Given the description of an element on the screen output the (x, y) to click on. 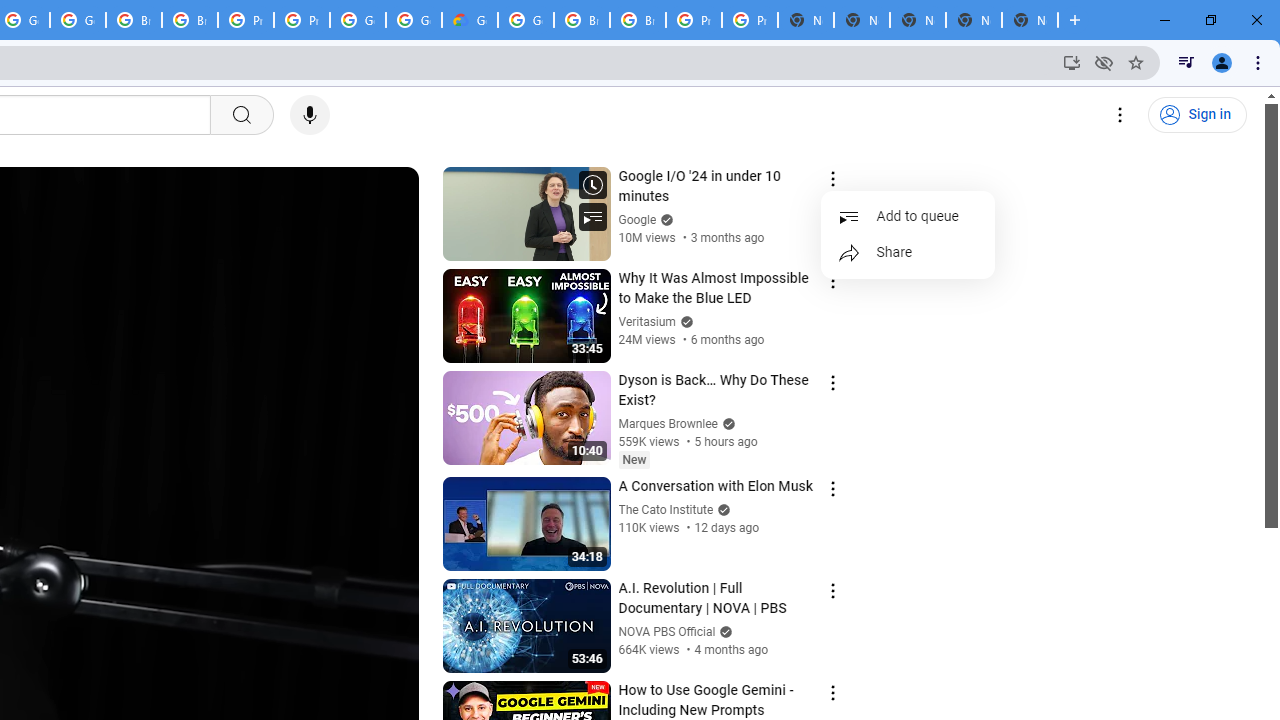
Browse Chrome as a guest - Computer - Google Chrome Help (582, 20)
New Tab (1030, 20)
Google Cloud Platform (358, 20)
Browse Chrome as a guest - Computer - Google Chrome Help (637, 20)
Search with your voice (309, 115)
